Given the description of an element on the screen output the (x, y) to click on. 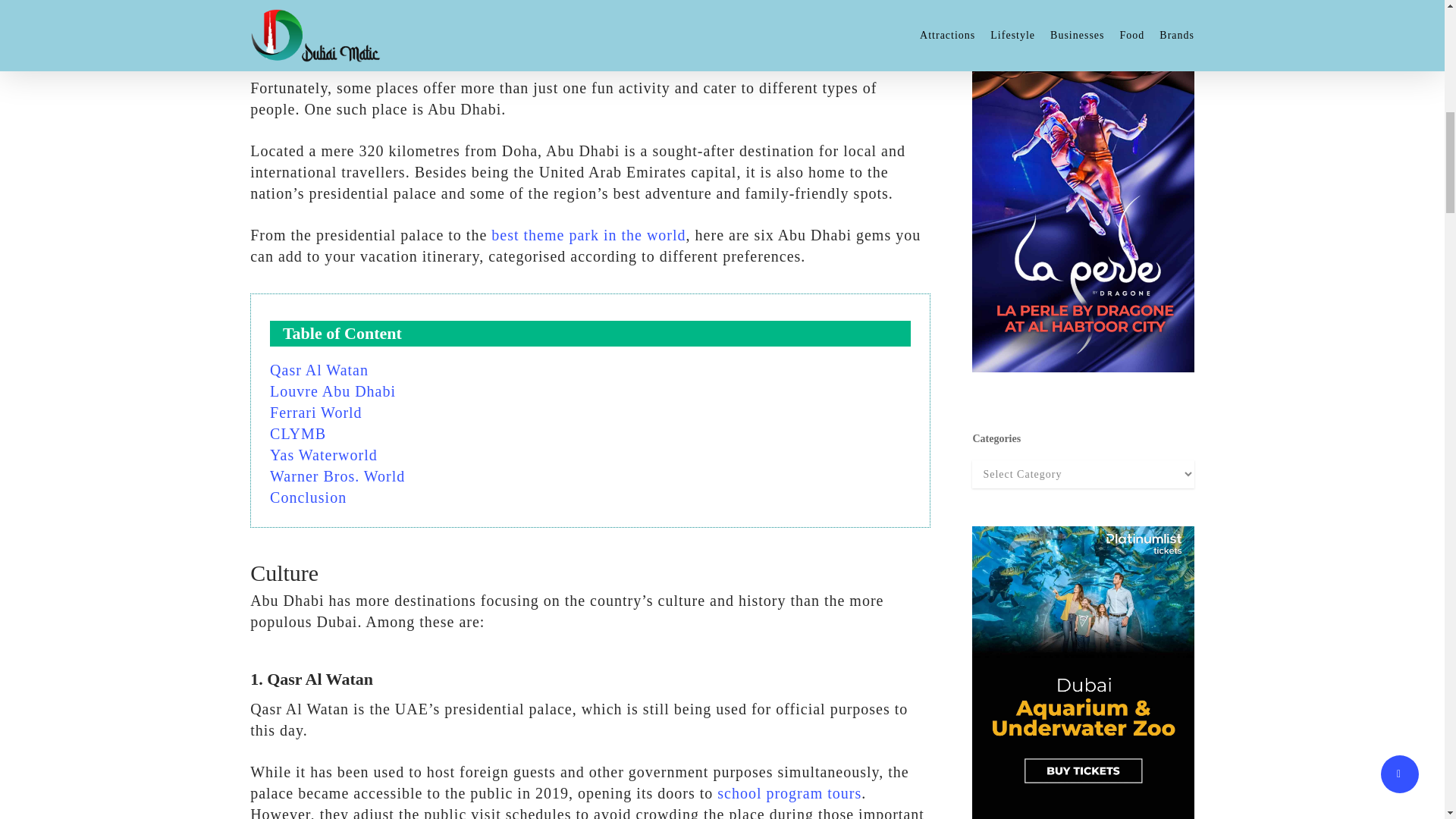
Conclusion (307, 497)
school program tours (789, 792)
Louvre Abu Dhabi (332, 391)
Warner Bros. World (336, 475)
Qasr Al Watan (318, 369)
CLYMB (297, 433)
Ferrari World (315, 412)
best theme park in the world (588, 234)
Yas Waterworld (323, 454)
